Given the description of an element on the screen output the (x, y) to click on. 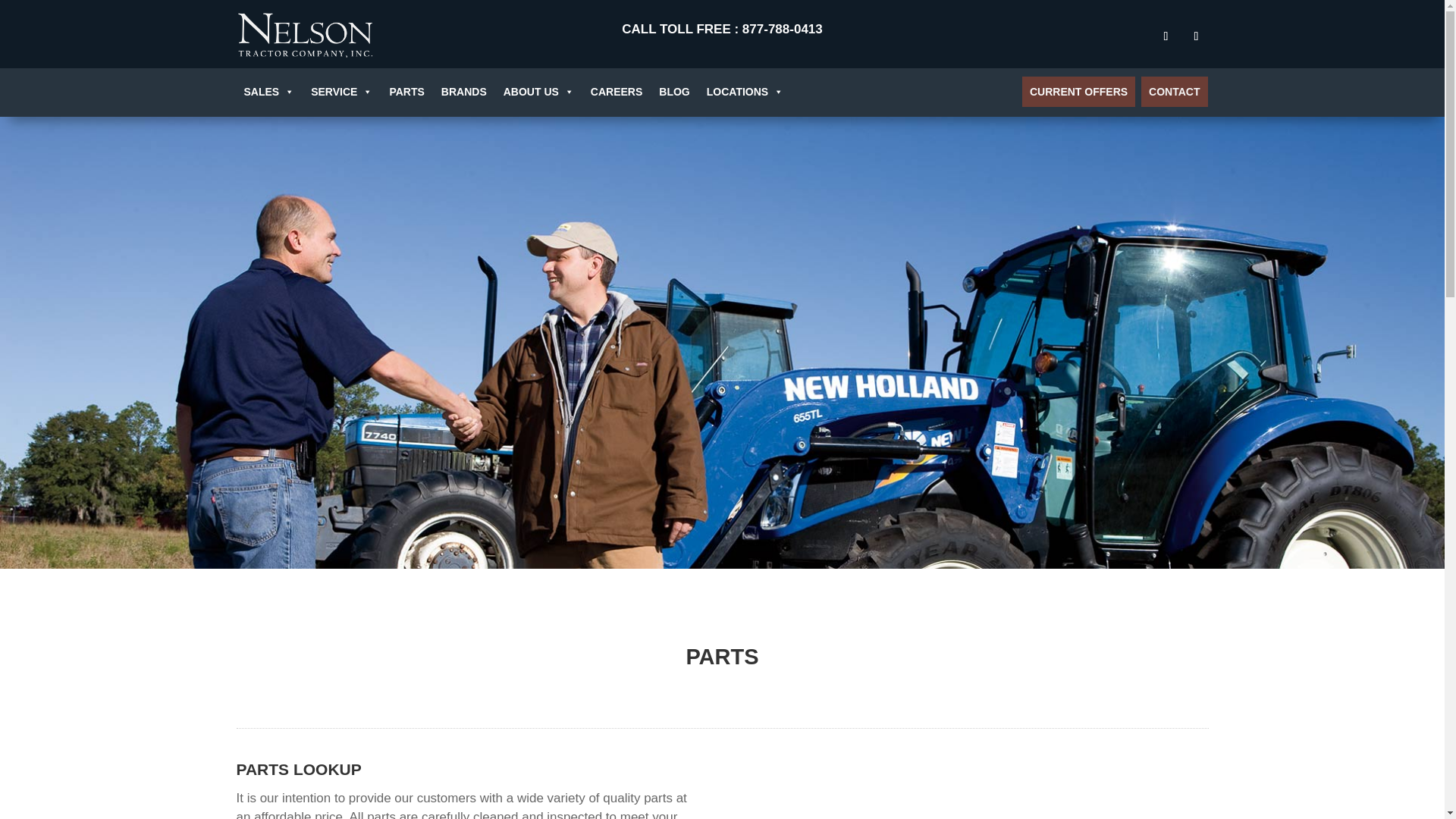
Follow on Facebook (1165, 36)
SALES (268, 91)
BLOG (673, 91)
ABOUT US (538, 91)
LOCATIONS (744, 91)
Follow on Instagram (1195, 36)
nelsontractorlogo (303, 33)
PARTS (405, 91)
CAREERS (616, 91)
CALL TOLL FREE : 877-788-0413 (721, 29)
